Given the description of an element on the screen output the (x, y) to click on. 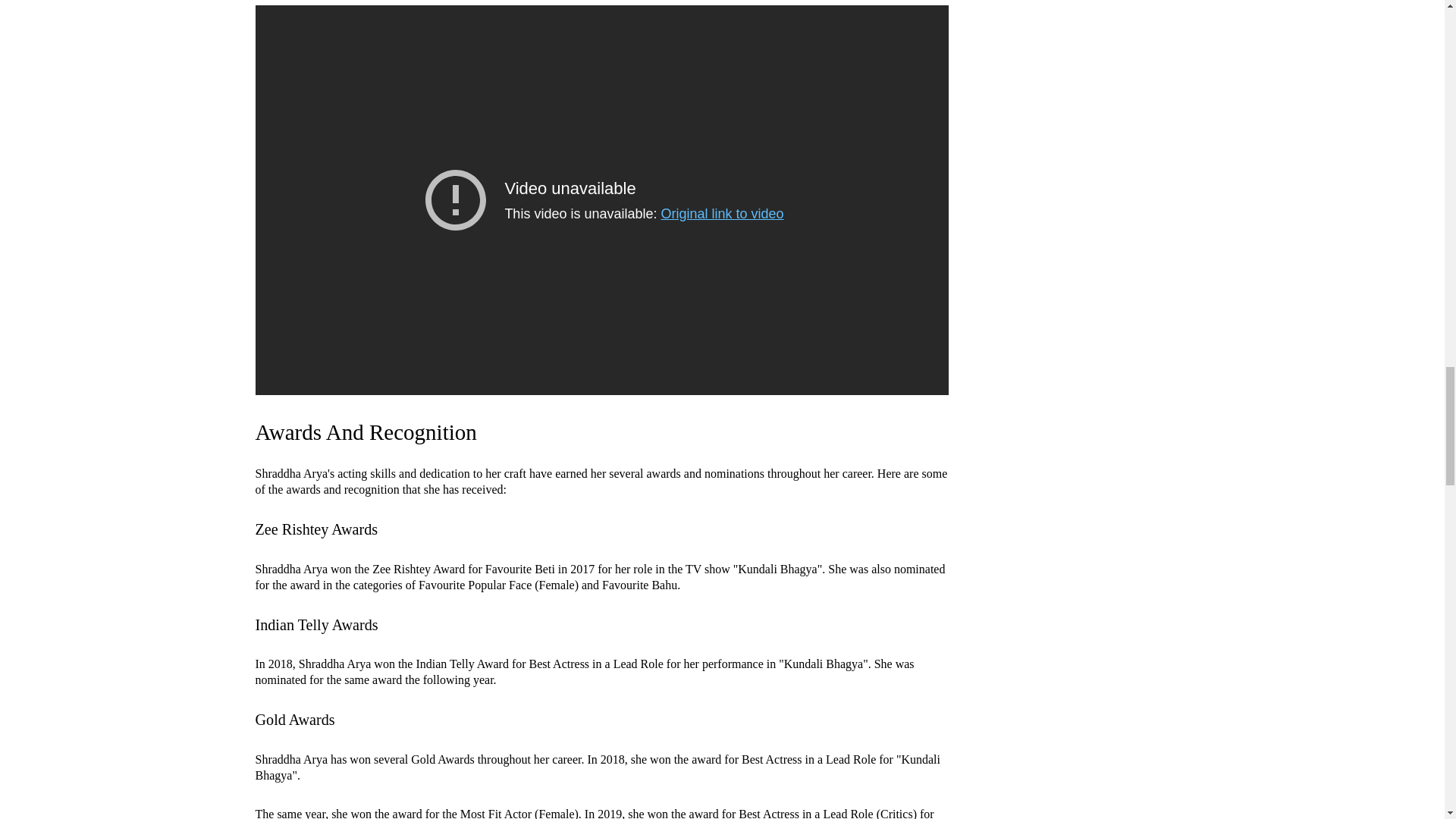
Gold Awards (294, 719)
Zee Rishtey Awards (315, 528)
Awards And Recognition (365, 432)
Zee Rishtey Awards (315, 528)
Indian Telly Awards (315, 624)
Awards And Recognition (365, 432)
Original link to video (722, 213)
